Given the description of an element on the screen output the (x, y) to click on. 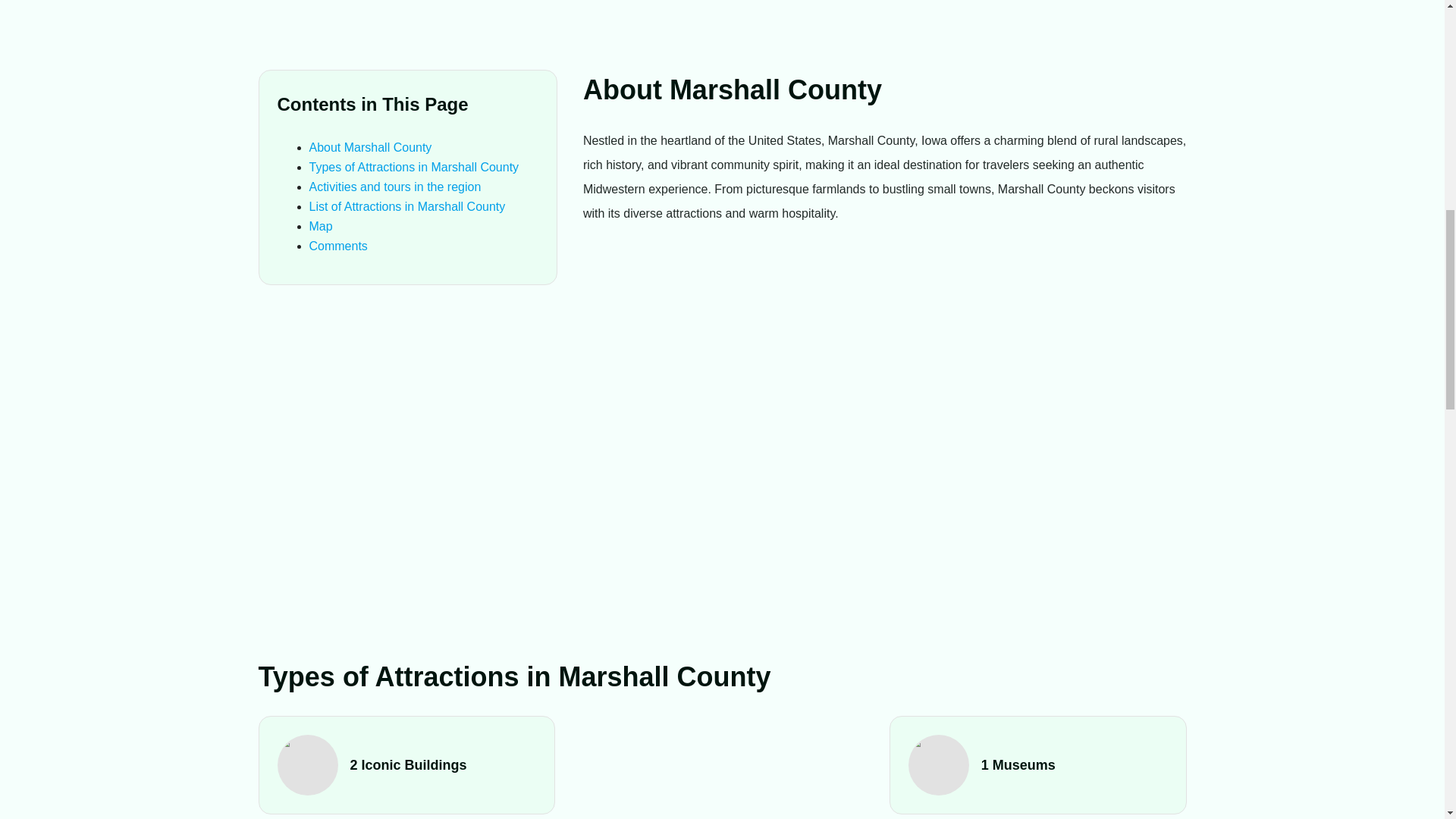
Comments (338, 245)
About Marshall County (370, 146)
Activities and tours in the region (394, 186)
Map (320, 226)
List of Attractions in Marshall County (406, 205)
1 Museums (1037, 764)
Types of Attractions in Marshall County (413, 166)
2 Iconic Buildings (407, 764)
